Given the description of an element on the screen output the (x, y) to click on. 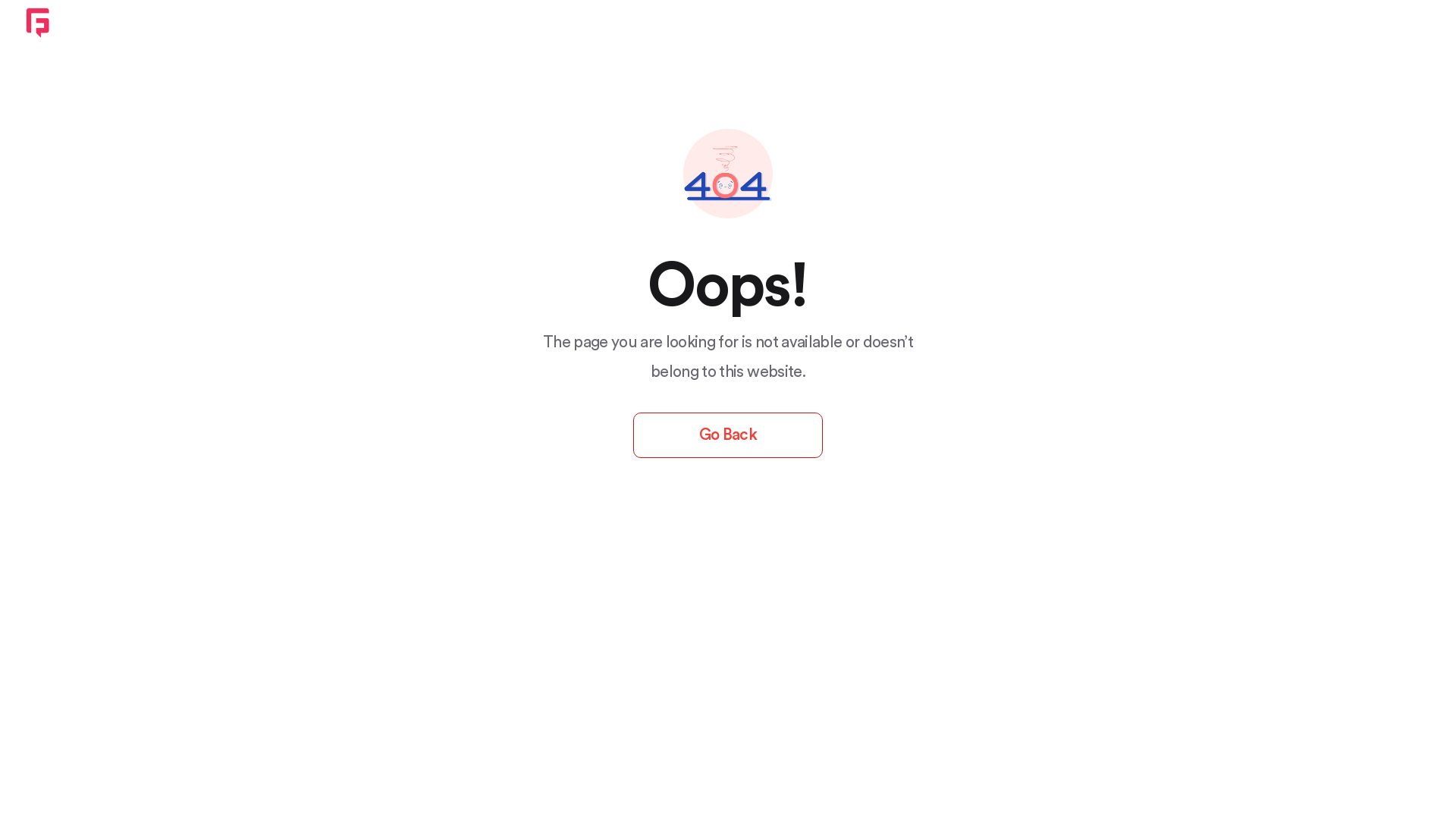
Go Back Element type: text (727, 435)
